Given the description of an element on the screen output the (x, y) to click on. 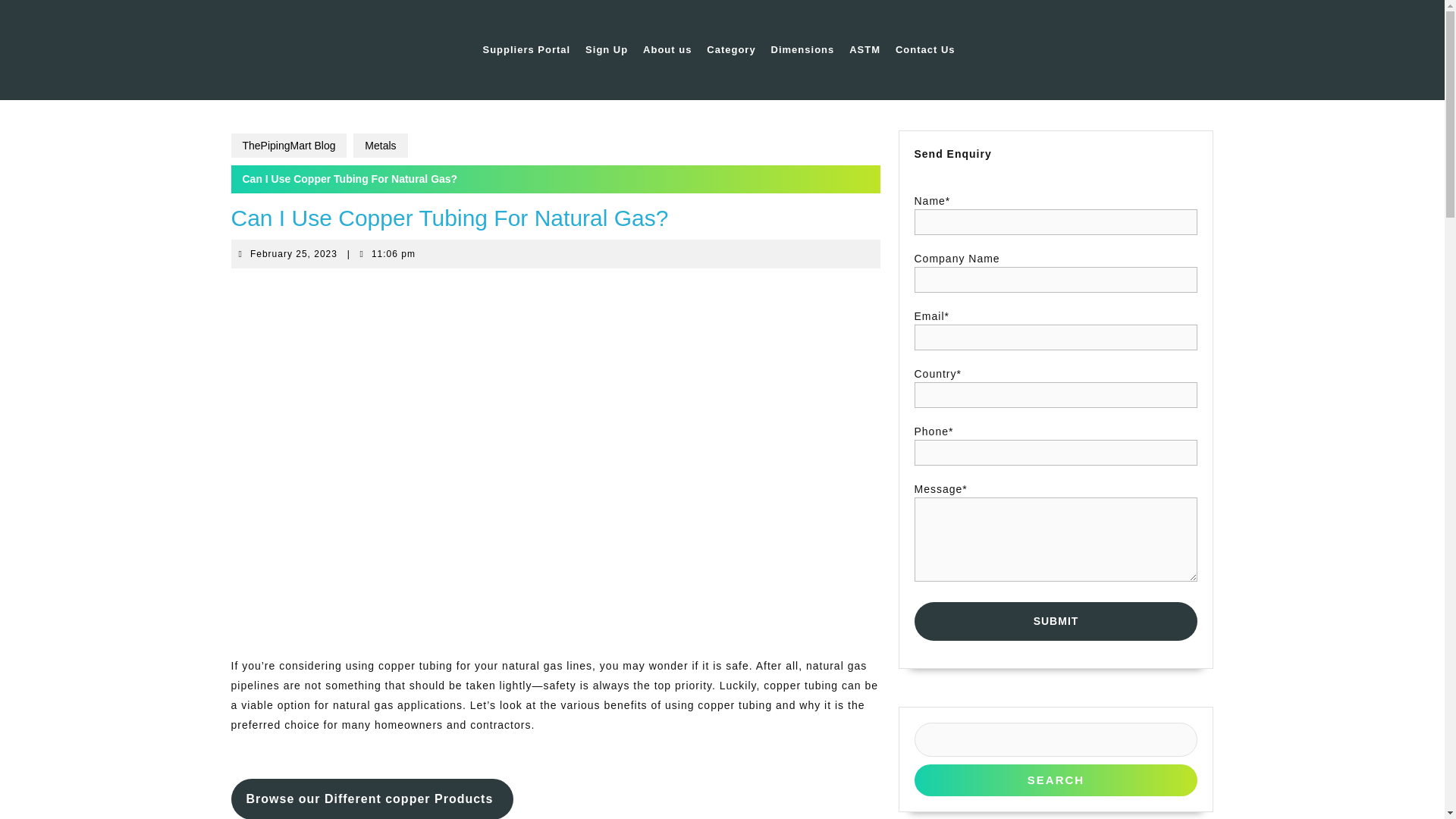
Dimensions (803, 49)
Submit (1056, 620)
ASTM (864, 49)
Category (730, 49)
ThePipingMart Blog (288, 145)
Metals (293, 253)
Contact Us (380, 145)
Submit (924, 49)
Suppliers Portal (1056, 620)
Sign Up (526, 49)
About us (606, 49)
SEARCH (667, 49)
